Given the description of an element on the screen output the (x, y) to click on. 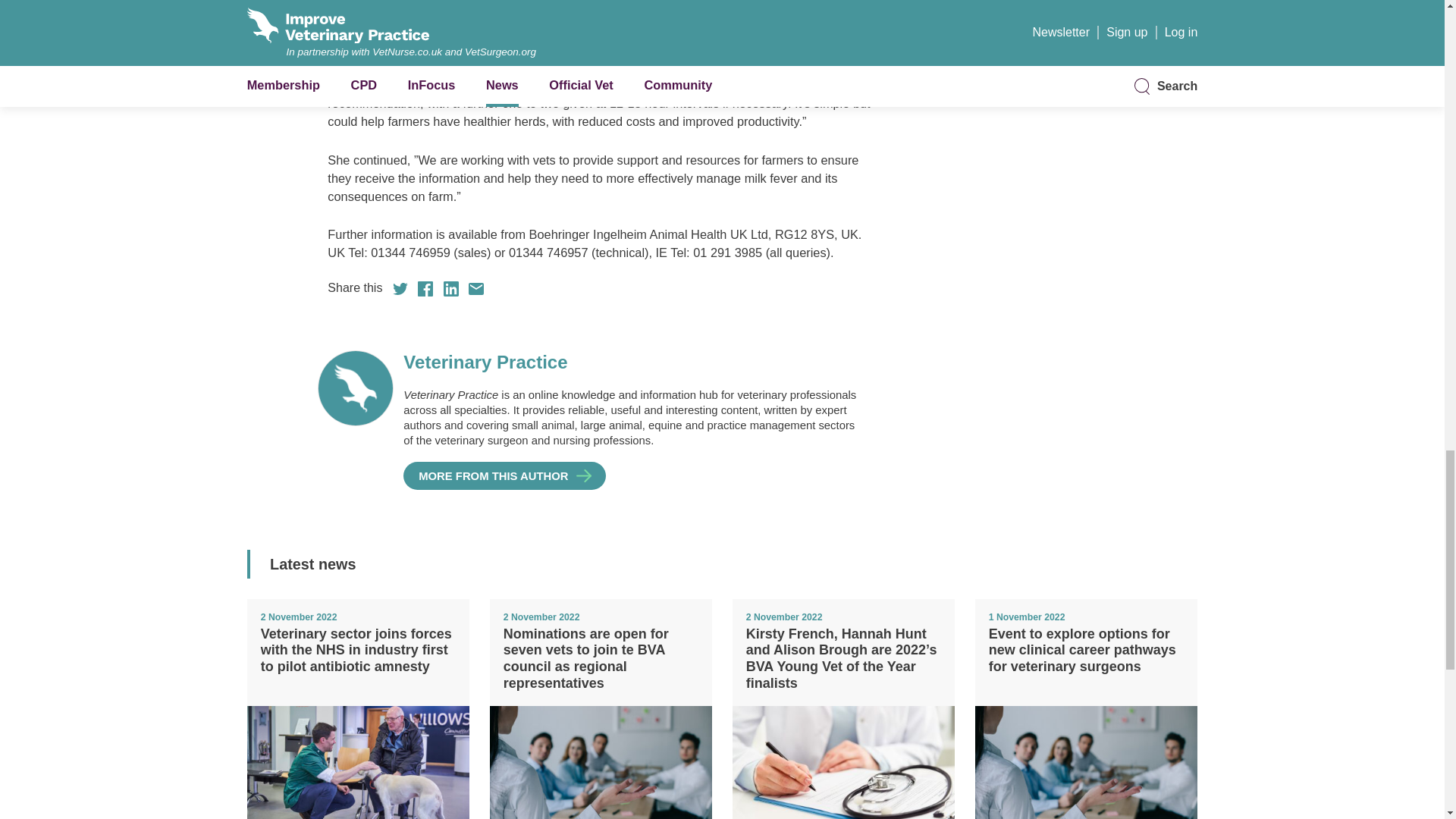
Veterinary Practice (633, 362)
Share on LinkedIn (451, 288)
Share on Twitter (400, 288)
Veterinary Practice (504, 475)
Share via Email (475, 288)
Share on Facebook (424, 288)
MORE FROM THIS AUTHOR (504, 475)
Veterinary Practice (633, 362)
